Given the description of an element on the screen output the (x, y) to click on. 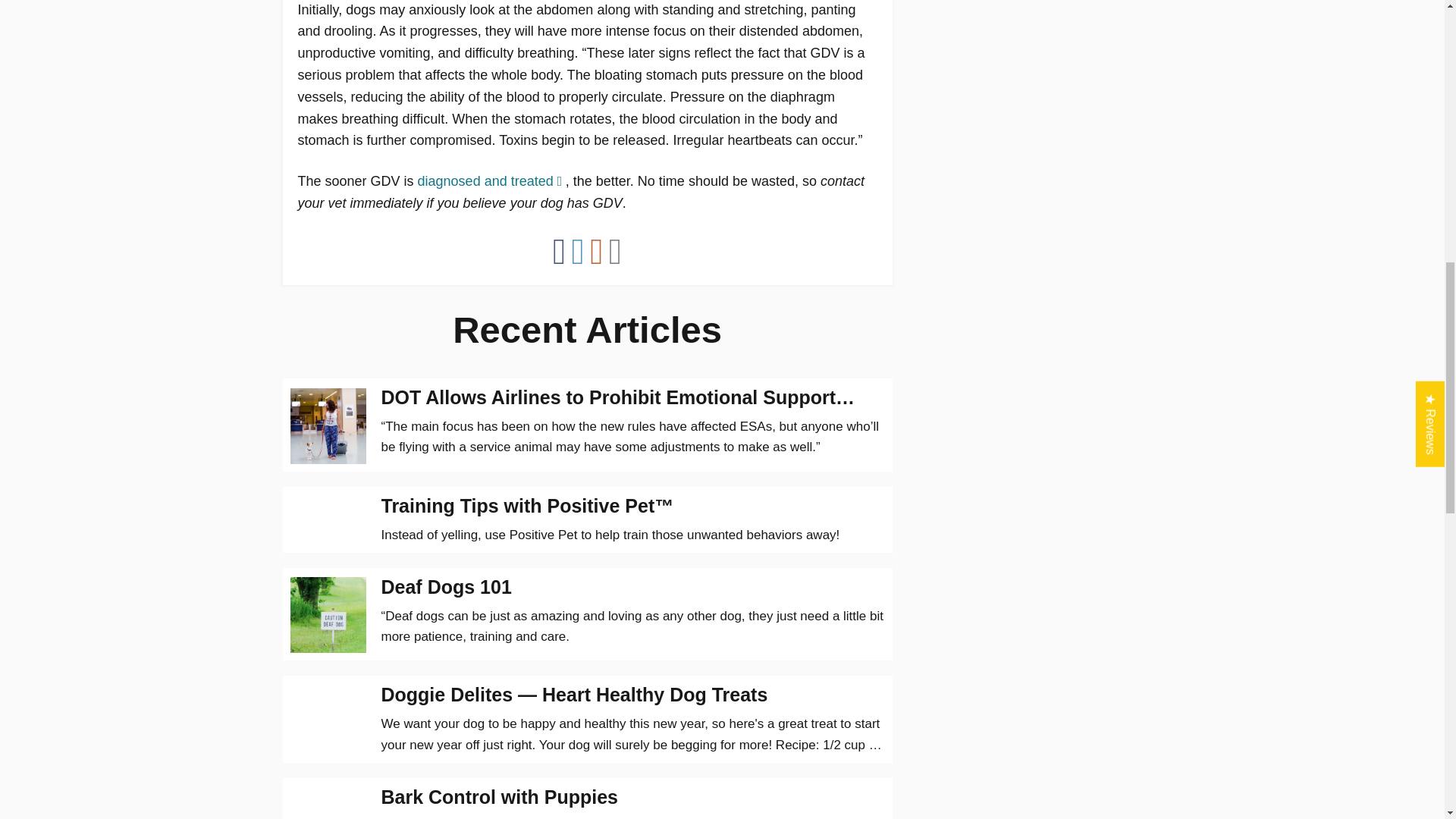
diagnosed and treated   (491, 181)
